Given the description of an element on the screen output the (x, y) to click on. 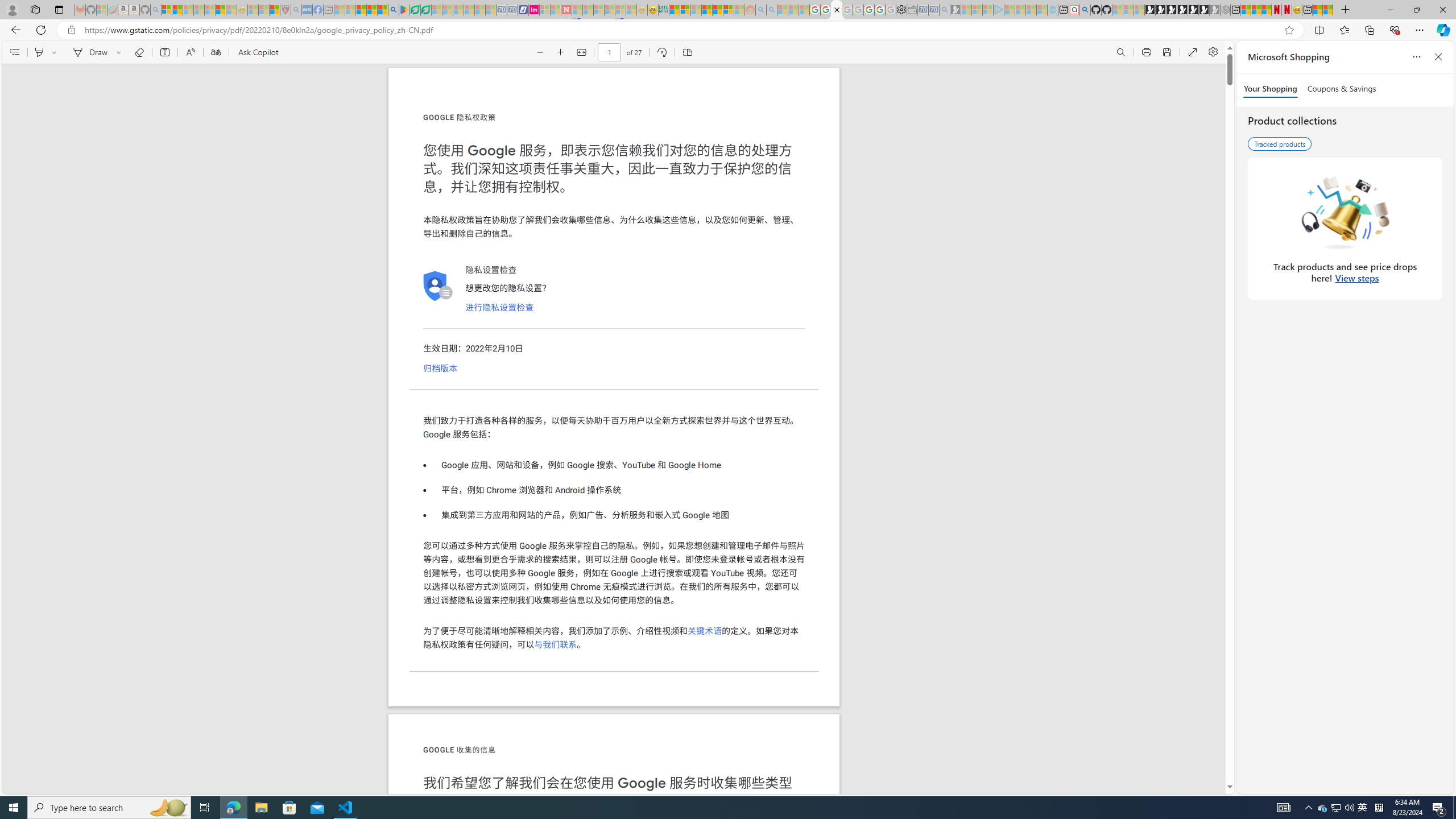
Expert Portfolios (707, 9)
Save (Ctrl+S) (1166, 52)
github - Search (1084, 9)
Page number (609, 52)
Draw (88, 52)
